Given the description of an element on the screen output the (x, y) to click on. 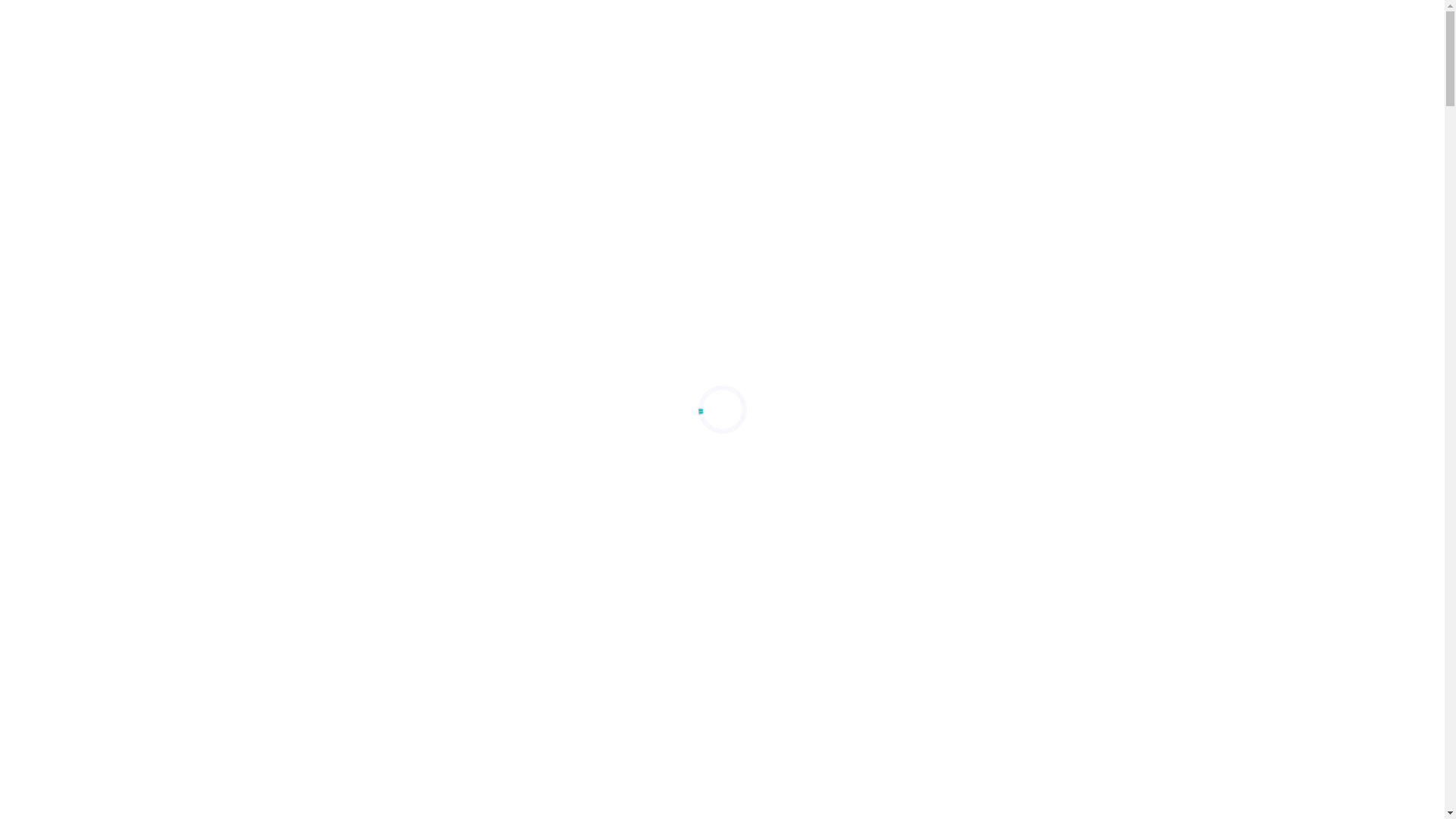
Ar Stal Element type: text (960, 31)
Formation Element type: text (644, 31)
En Photos Element type: text (730, 31)
Partenaires Element type: text (1040, 31)
Contact Element type: text (1121, 31)
